Given the description of an element on the screen output the (x, y) to click on. 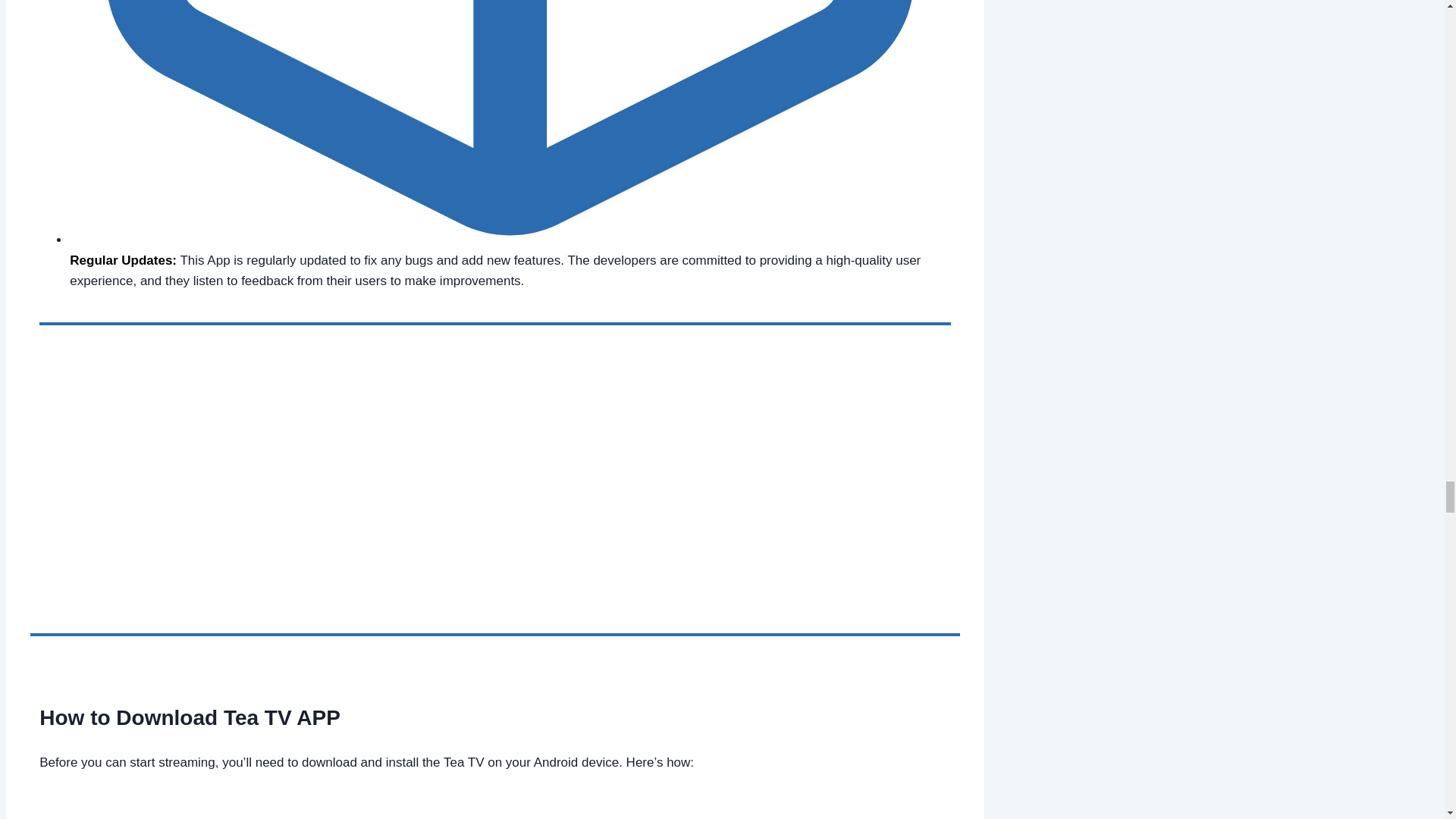
tea-tv-apk (291, 500)
